Given the description of an element on the screen output the (x, y) to click on. 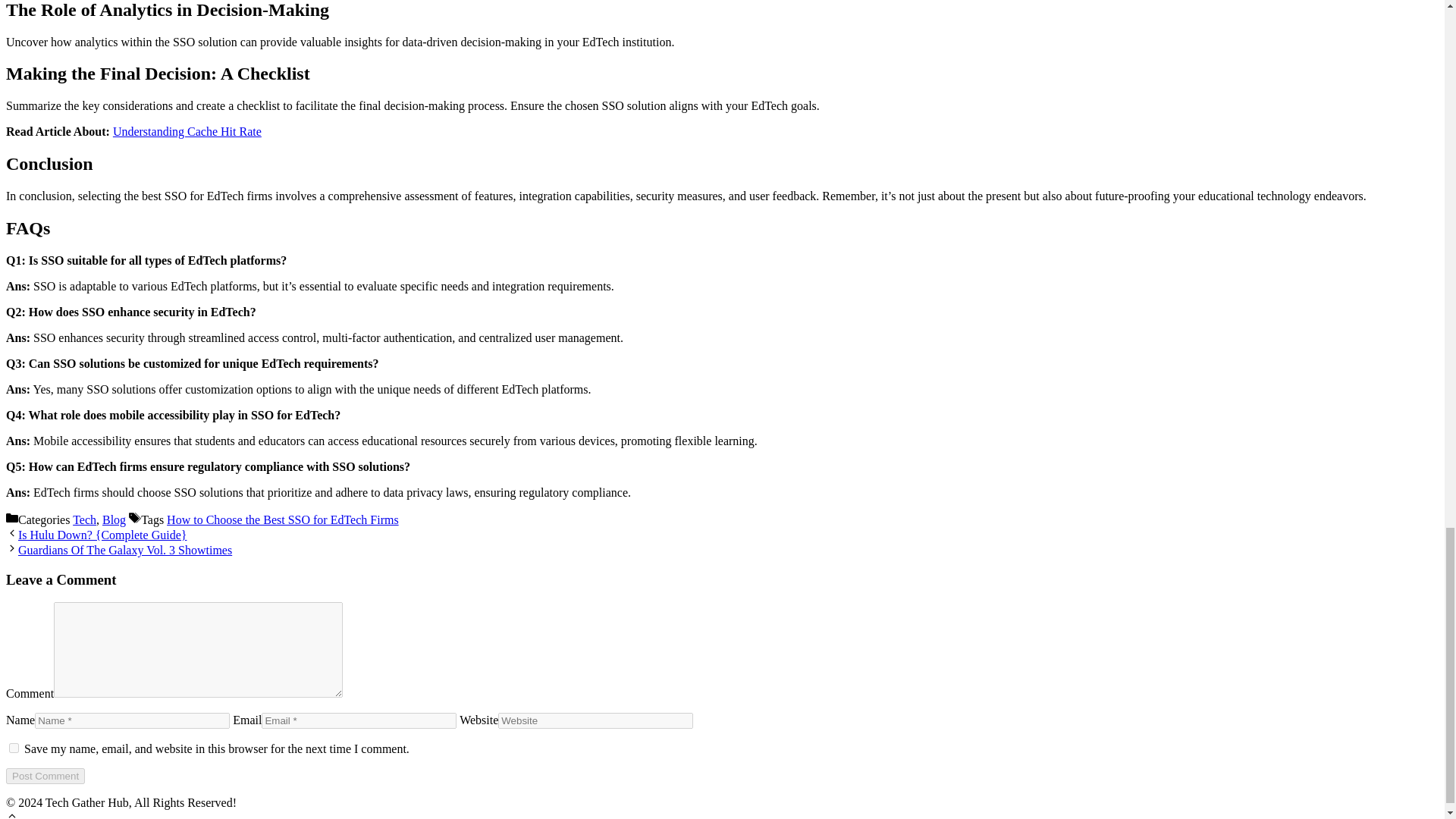
Understanding Cache Hit Rate (187, 131)
yes (13, 747)
Post Comment (44, 775)
